Given the description of an element on the screen output the (x, y) to click on. 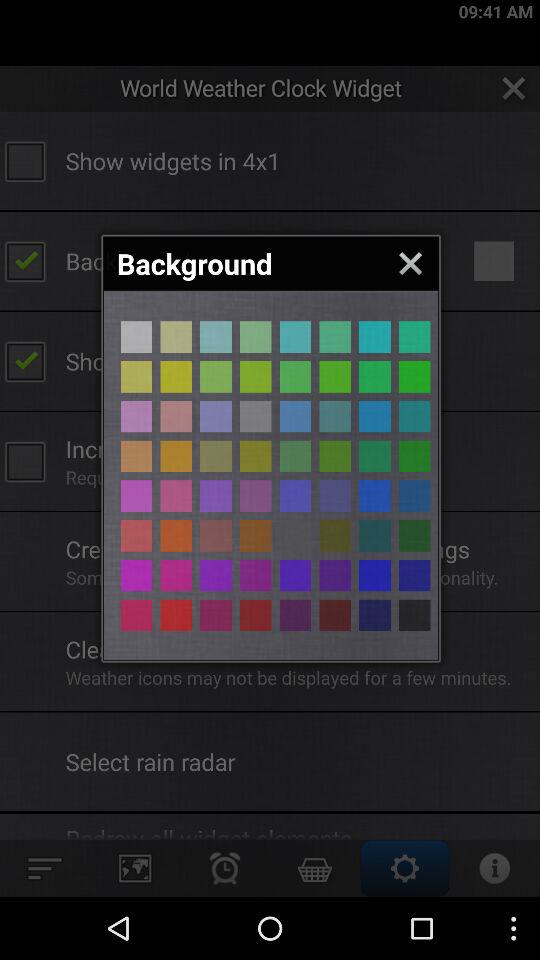
colour selection (215, 495)
